Given the description of an element on the screen output the (x, y) to click on. 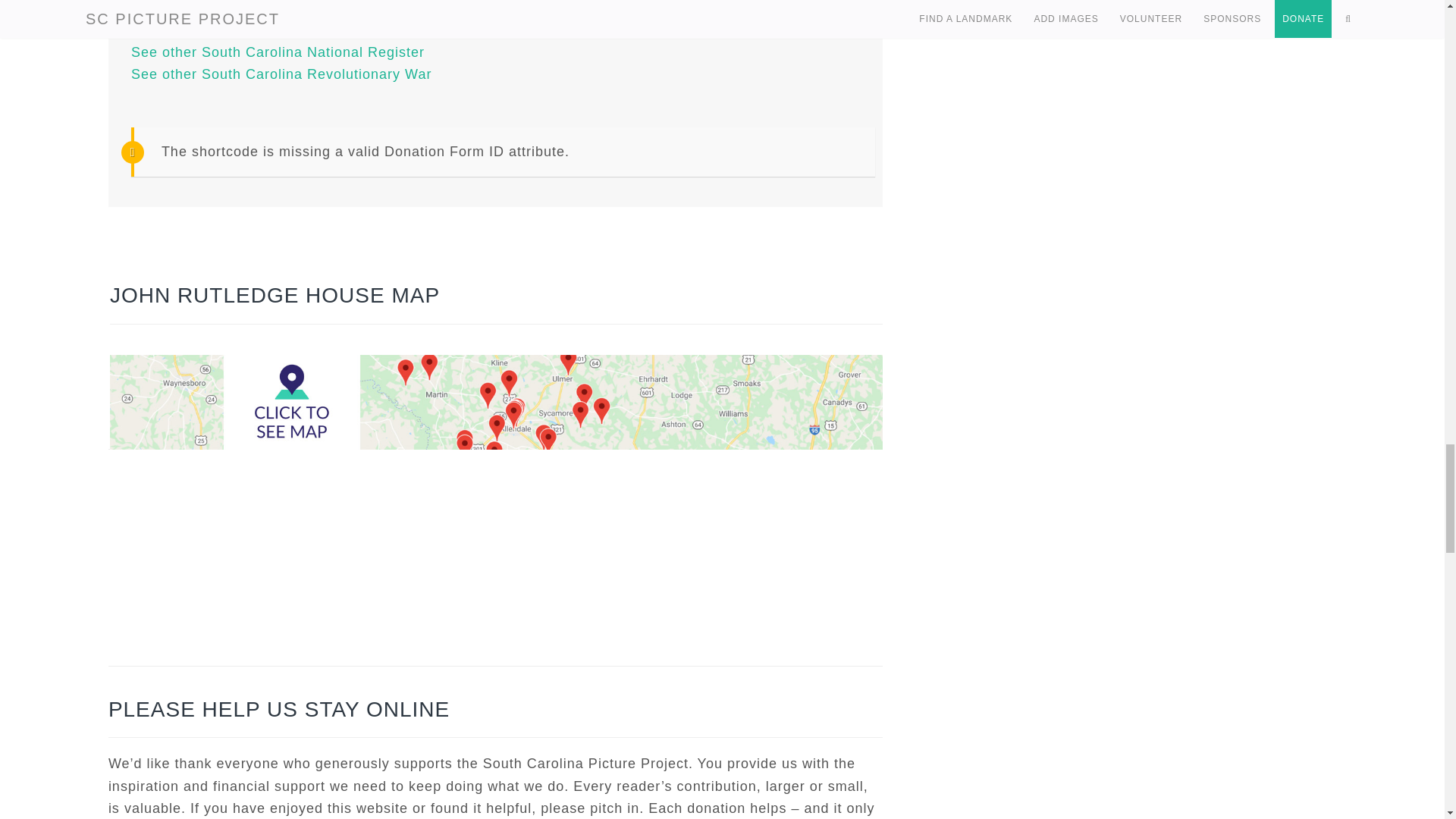
See other South Carolina Historical Photos (276, 7)
